Given the description of an element on the screen output the (x, y) to click on. 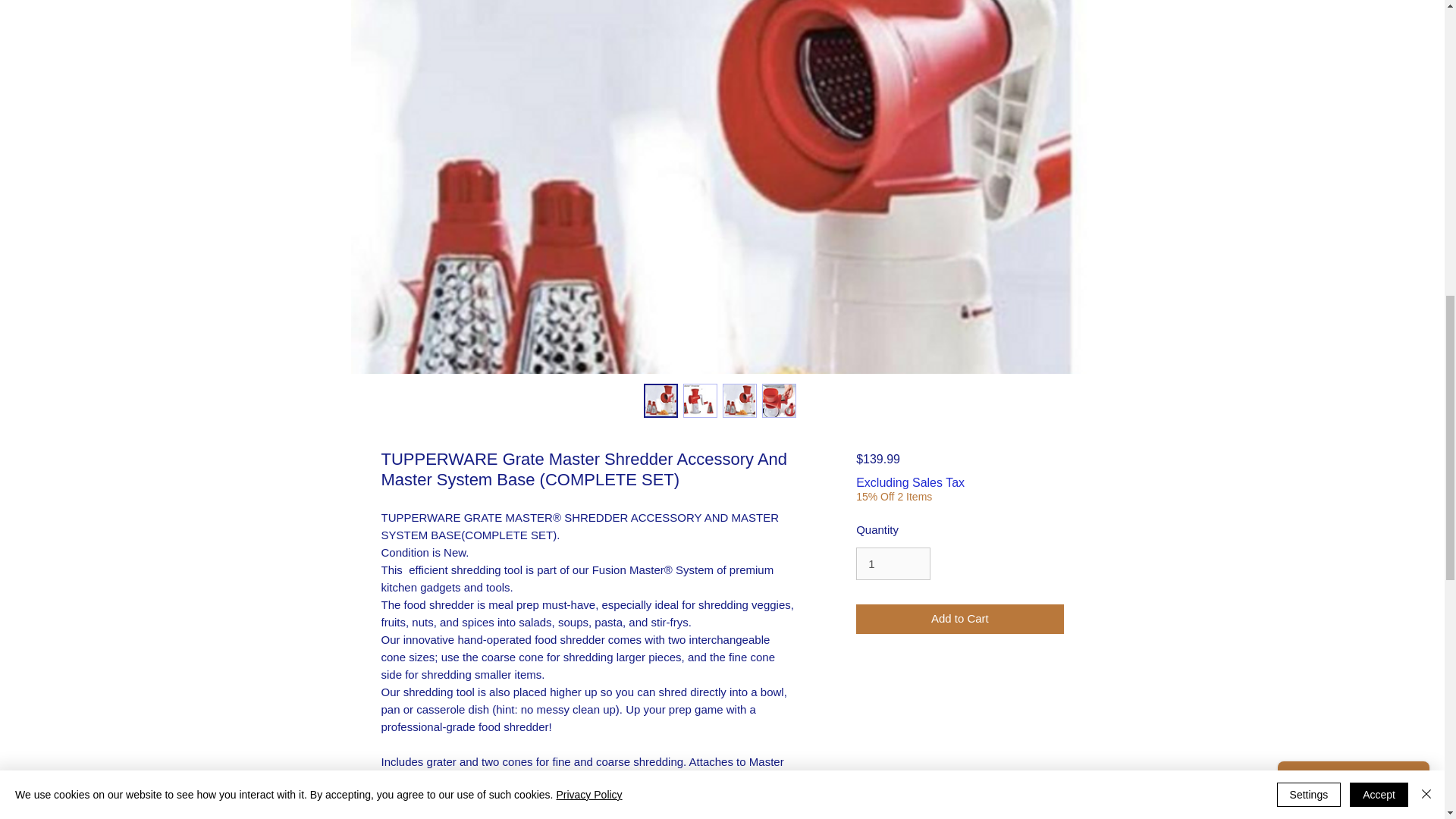
1 (893, 563)
